Given the description of an element on the screen output the (x, y) to click on. 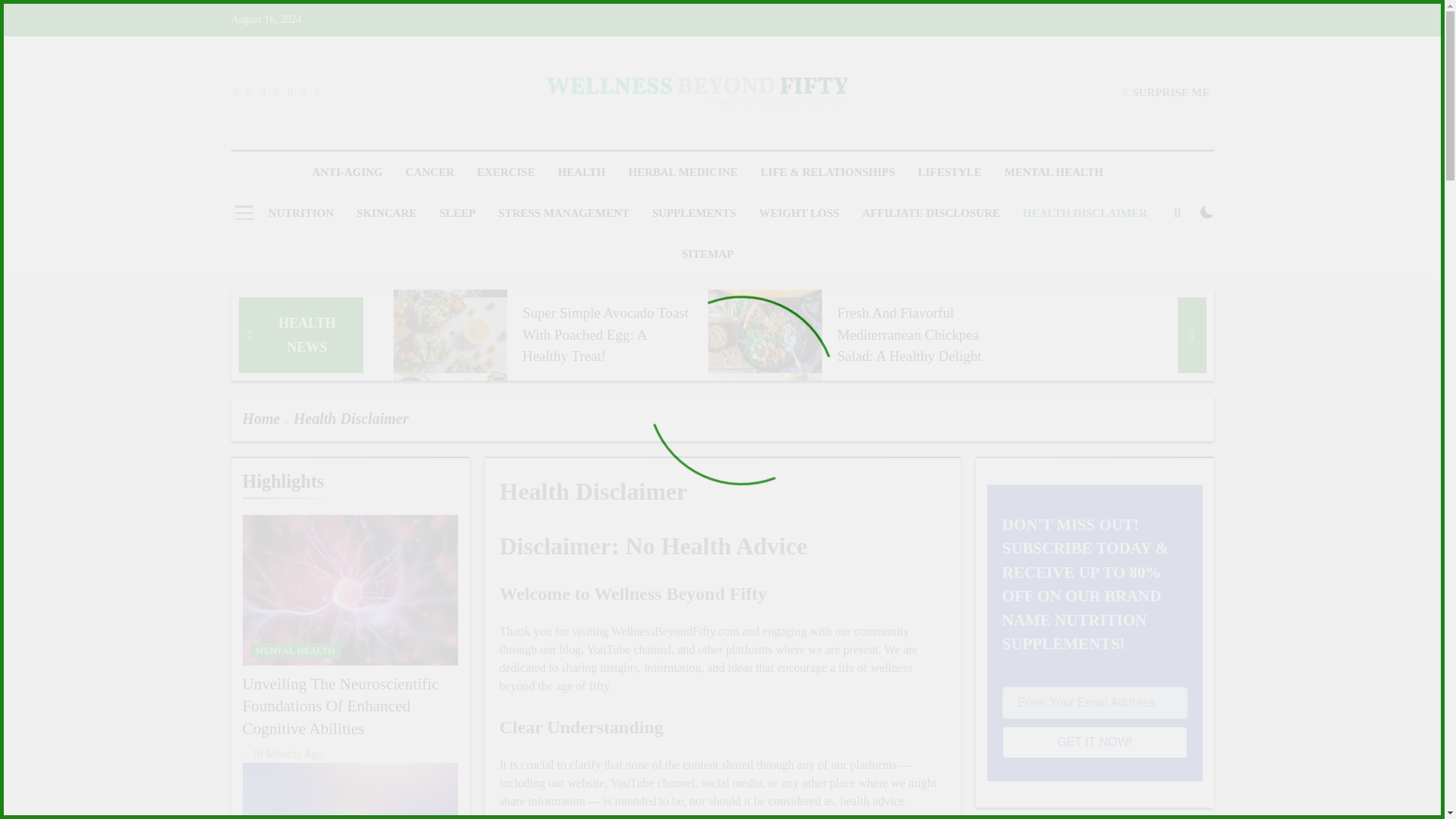
ANTI-AGING (346, 171)
SURPRISE ME (1166, 91)
Wellness Beyond Fifty (592, 135)
GET IT NOW! (1095, 742)
on (1206, 212)
